Given the description of an element on the screen output the (x, y) to click on. 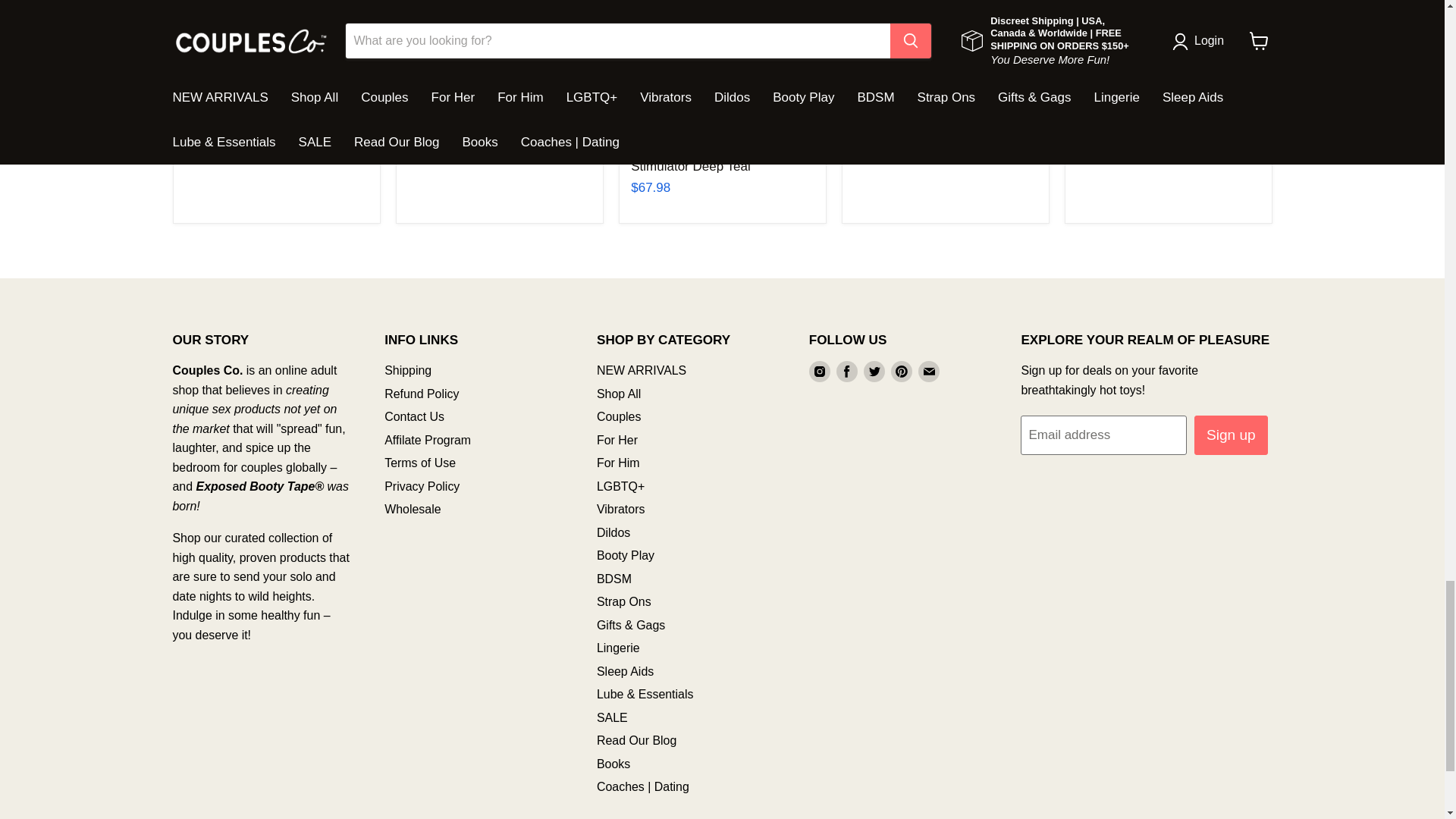
Instagram (819, 371)
Pinterest (901, 371)
Twitter (874, 371)
Email (928, 371)
Facebook (846, 371)
